Given the description of an element on the screen output the (x, y) to click on. 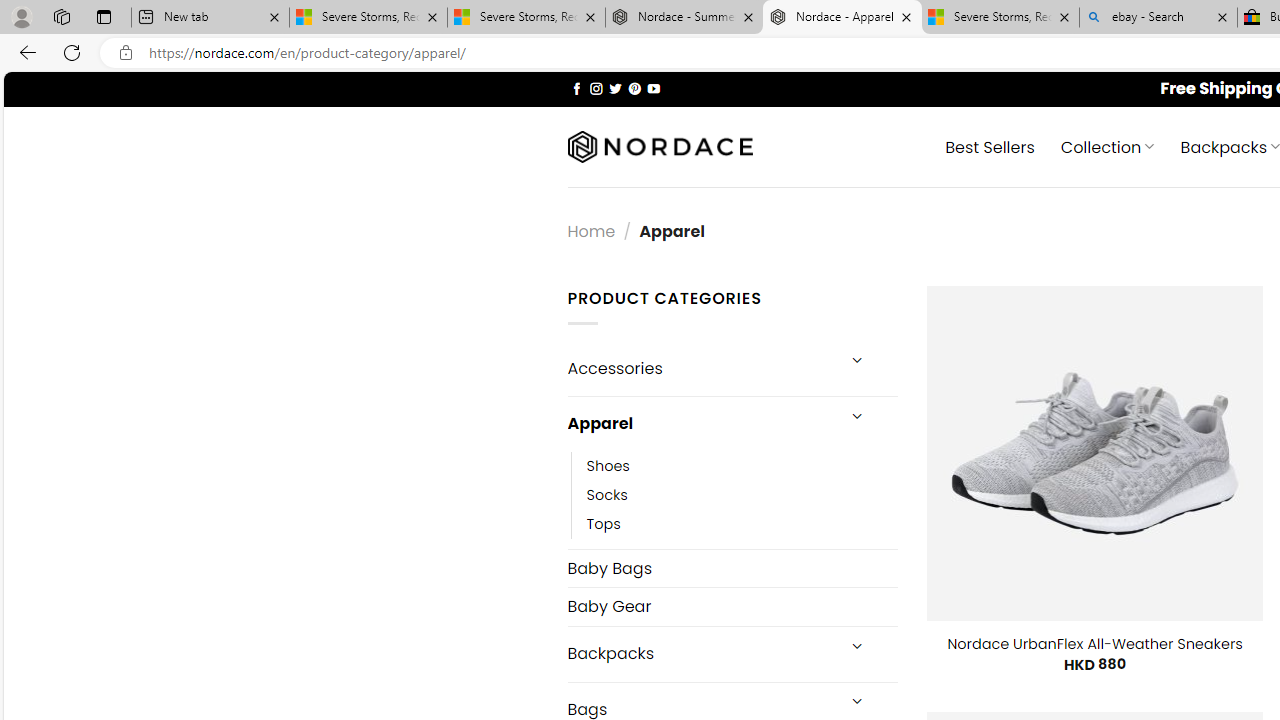
  Best Sellers (989, 146)
Shoes (742, 465)
Tops (742, 524)
Baby Gear (732, 606)
Accessories (700, 368)
Shoes (607, 465)
 Best Sellers (989, 146)
Apparel (700, 423)
Tops (603, 524)
Baby Gear (732, 605)
